Given the description of an element on the screen output the (x, y) to click on. 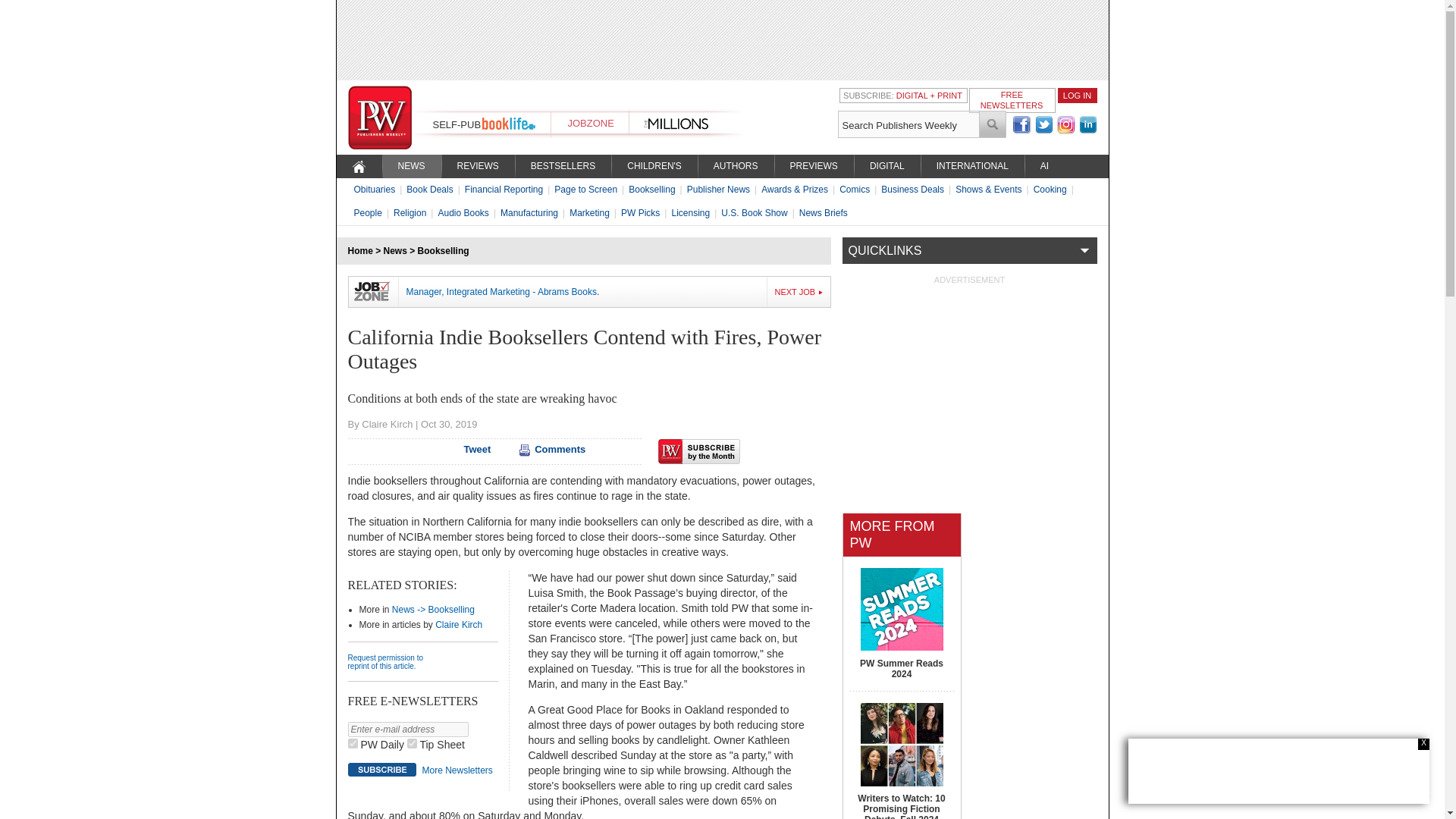
SELF-PUB (456, 124)
subscribe (380, 769)
6 (411, 743)
Search Publishers Weekly (907, 124)
Bookselling (442, 250)
FREE NEWSLETTERS (1011, 99)
1 (351, 743)
submit (992, 124)
News (395, 250)
JOBZONE (589, 122)
